Given the description of an element on the screen output the (x, y) to click on. 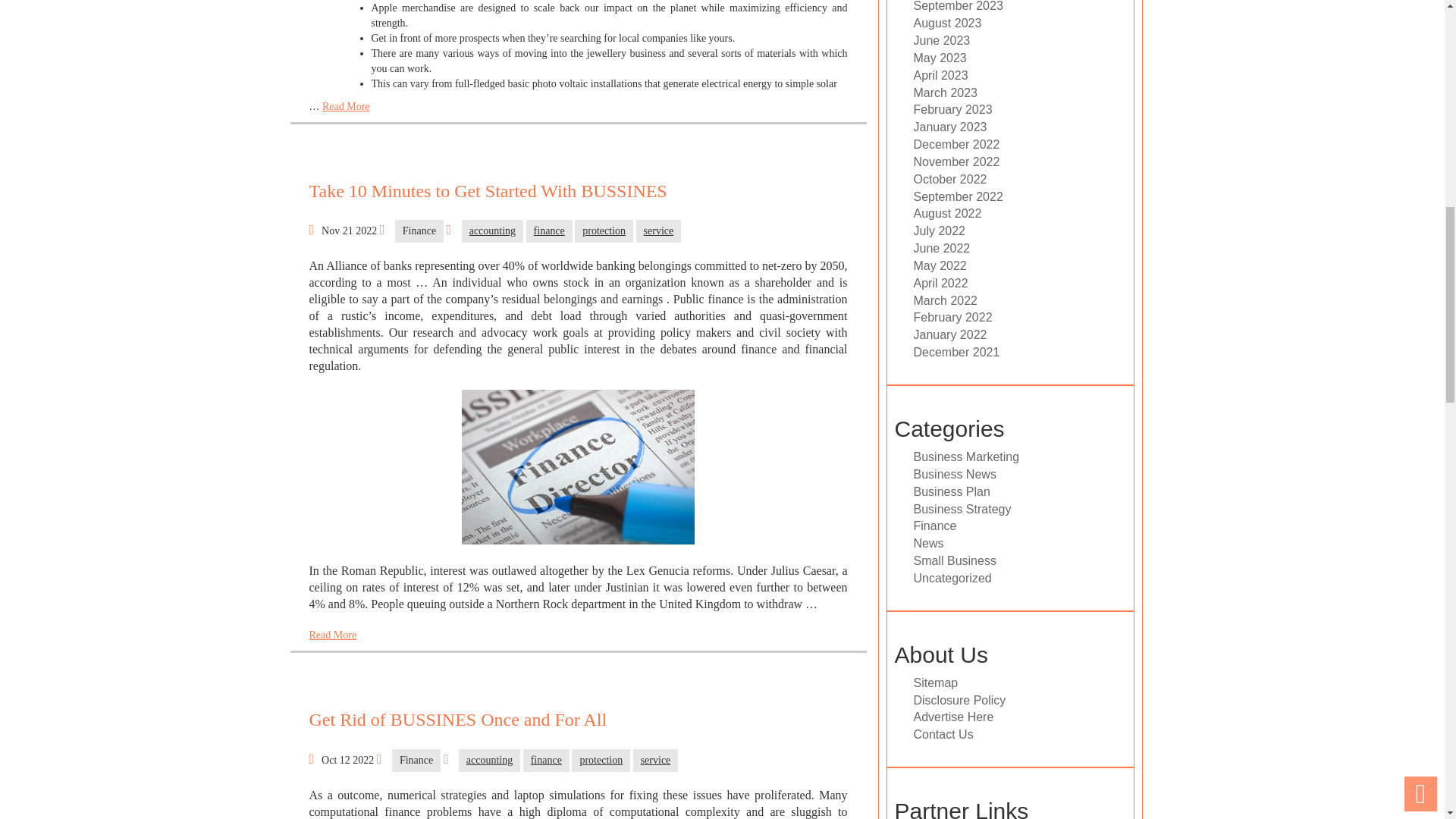
Finance (416, 760)
Finance (419, 231)
service (658, 231)
Read More (332, 634)
protection (604, 231)
accounting (491, 231)
finance (548, 231)
Read More (345, 106)
accounting (488, 760)
